Given the description of an element on the screen output the (x, y) to click on. 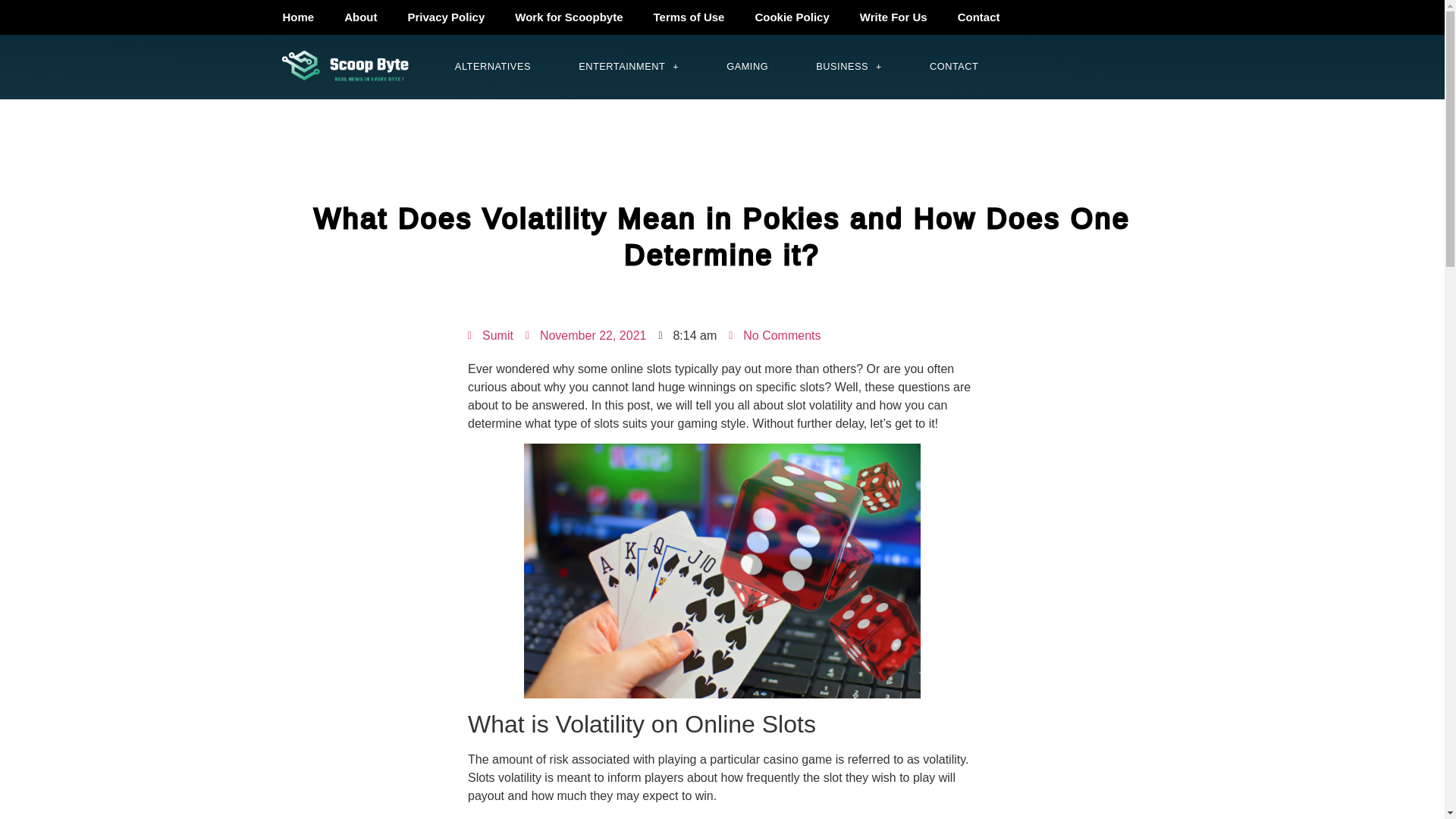
November 22, 2021 (585, 335)
Write For Us (893, 17)
ALTERNATIVES (492, 66)
Home (297, 17)
Terms of Use (689, 17)
Privacy Policy (446, 17)
Cookie Policy (791, 17)
Work for Scoopbyte (568, 17)
ENTERTAINMENT (628, 66)
Sumit (490, 335)
About (360, 17)
CONTACT (954, 66)
Contact (978, 17)
GAMING (747, 66)
BUSINESS (848, 66)
